Given the description of an element on the screen output the (x, y) to click on. 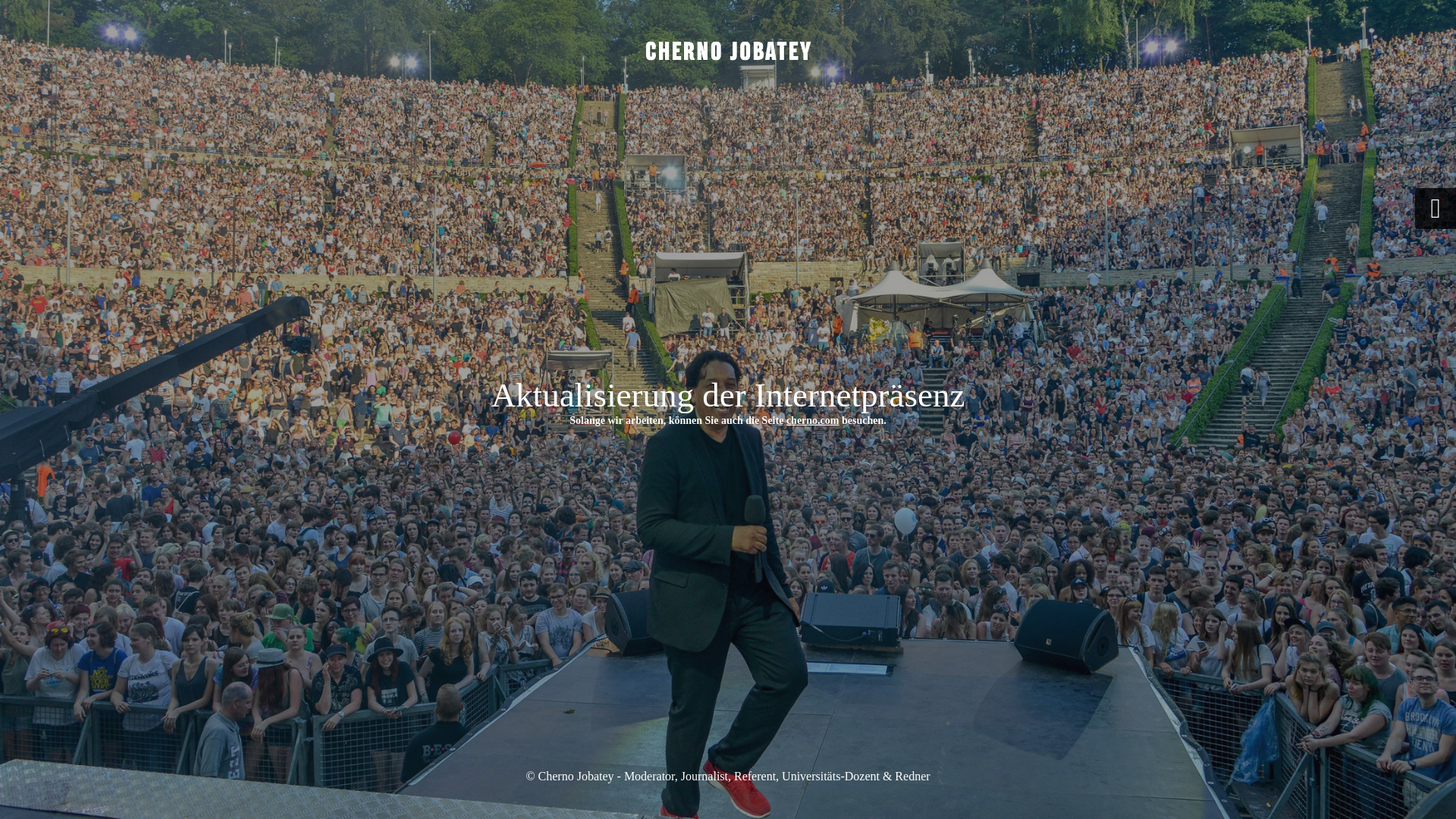
cherno.com (813, 419)
